Given the description of an element on the screen output the (x, y) to click on. 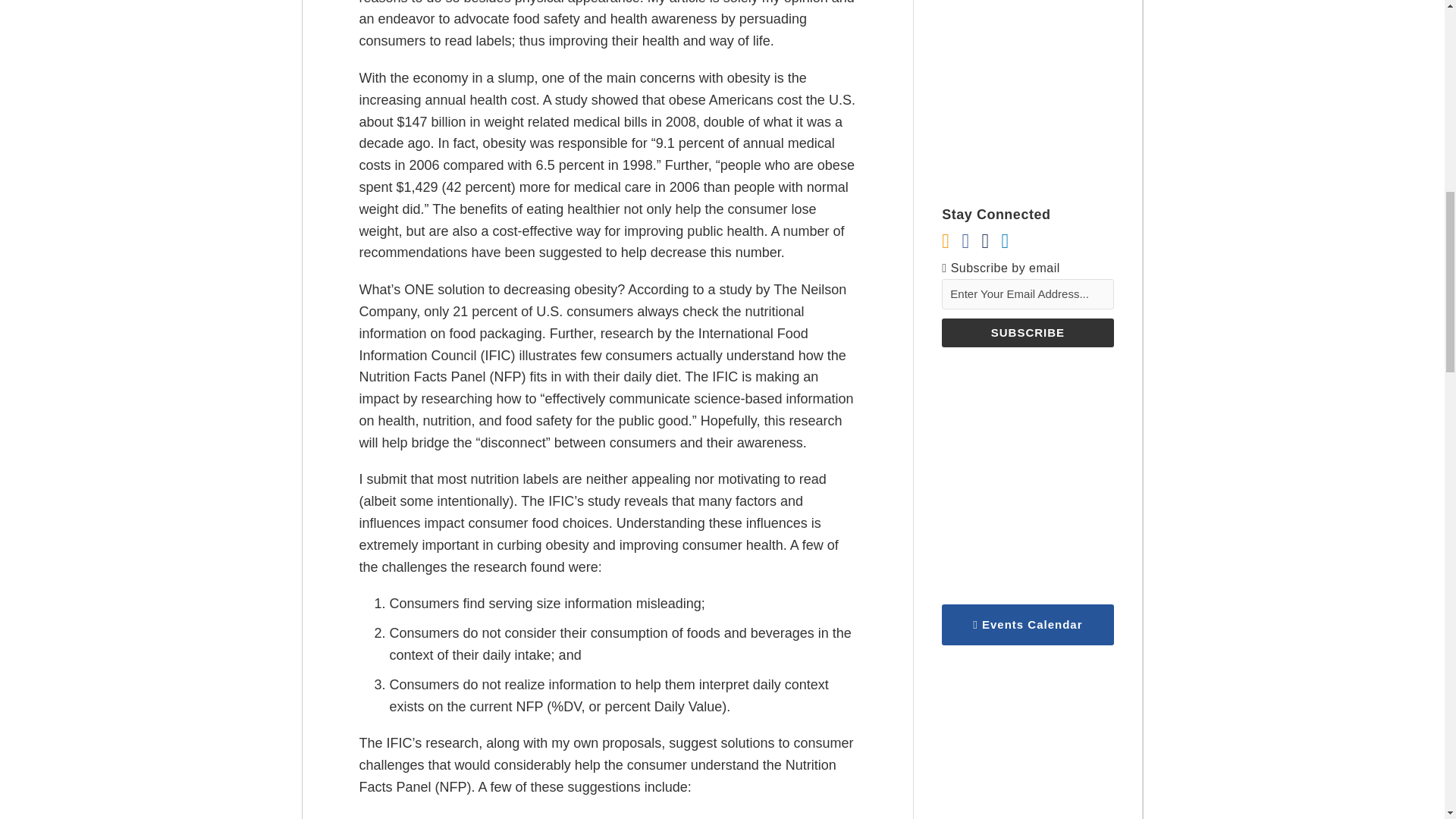
Subscribe (1027, 332)
